Given the description of an element on the screen output the (x, y) to click on. 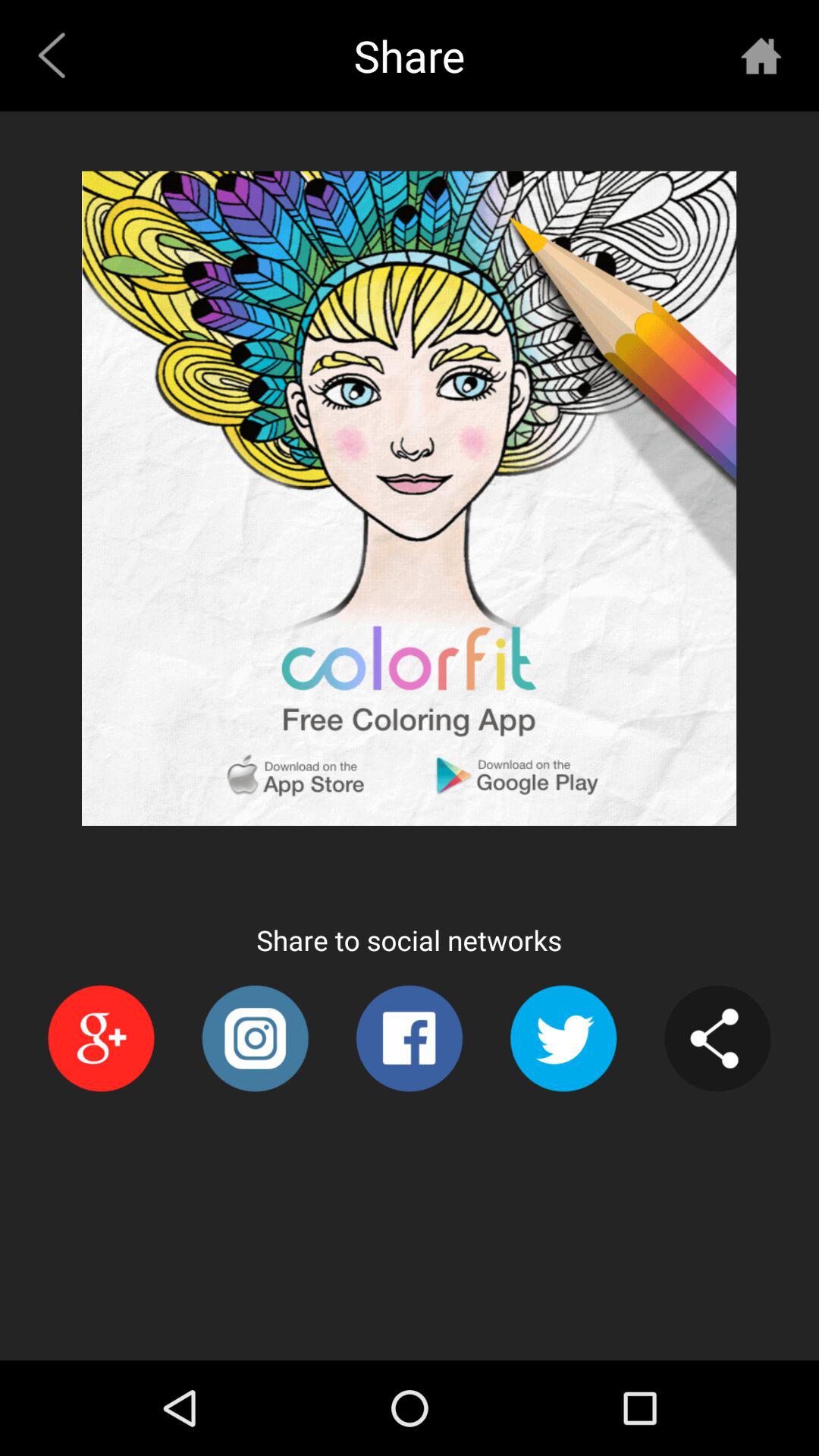
go to the home screen (761, 55)
